Given the description of an element on the screen output the (x, y) to click on. 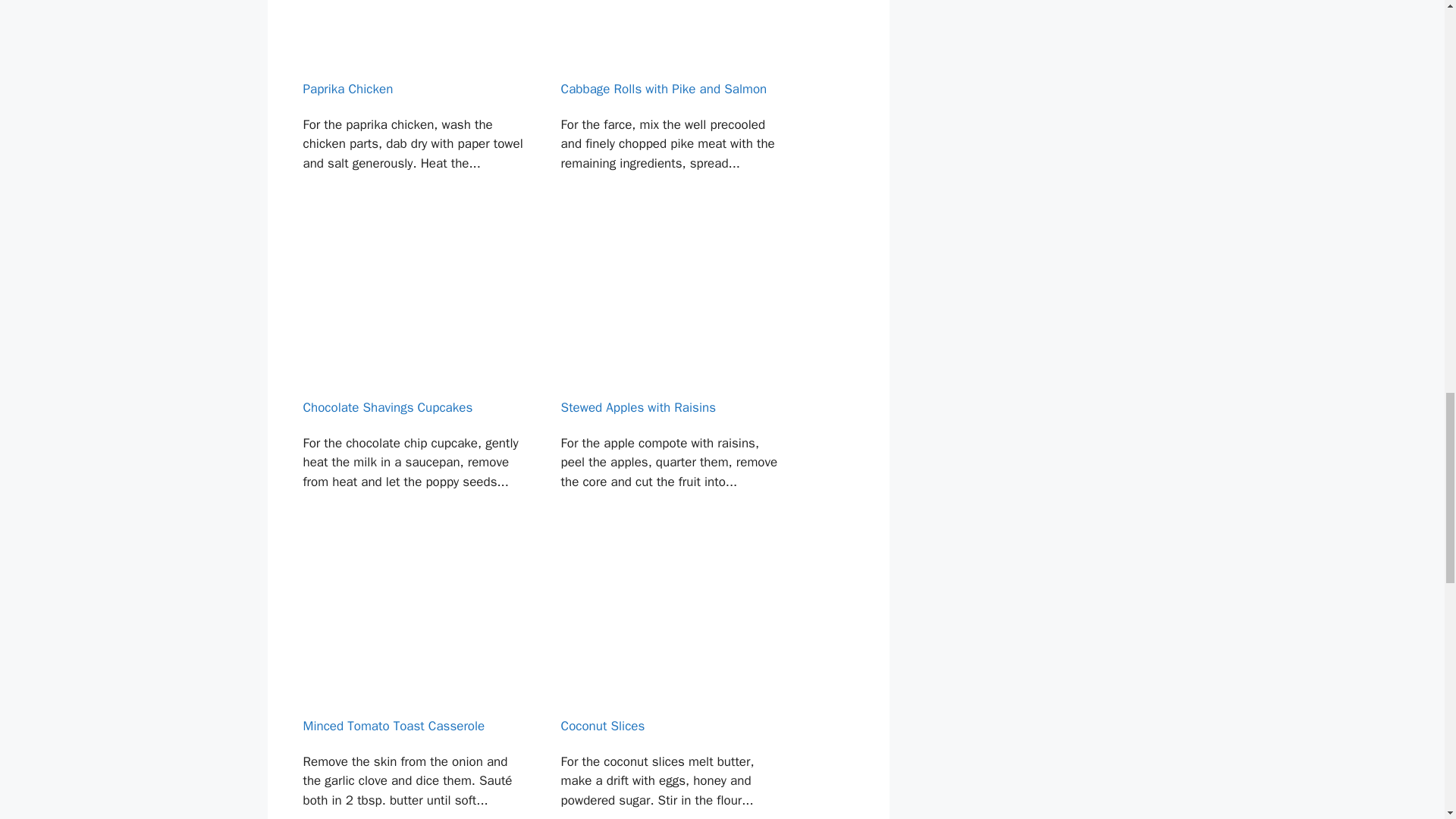
Cabbage Rolls with Pike and Salmon (673, 112)
Paprika Chicken (414, 112)
